Given the description of an element on the screen output the (x, y) to click on. 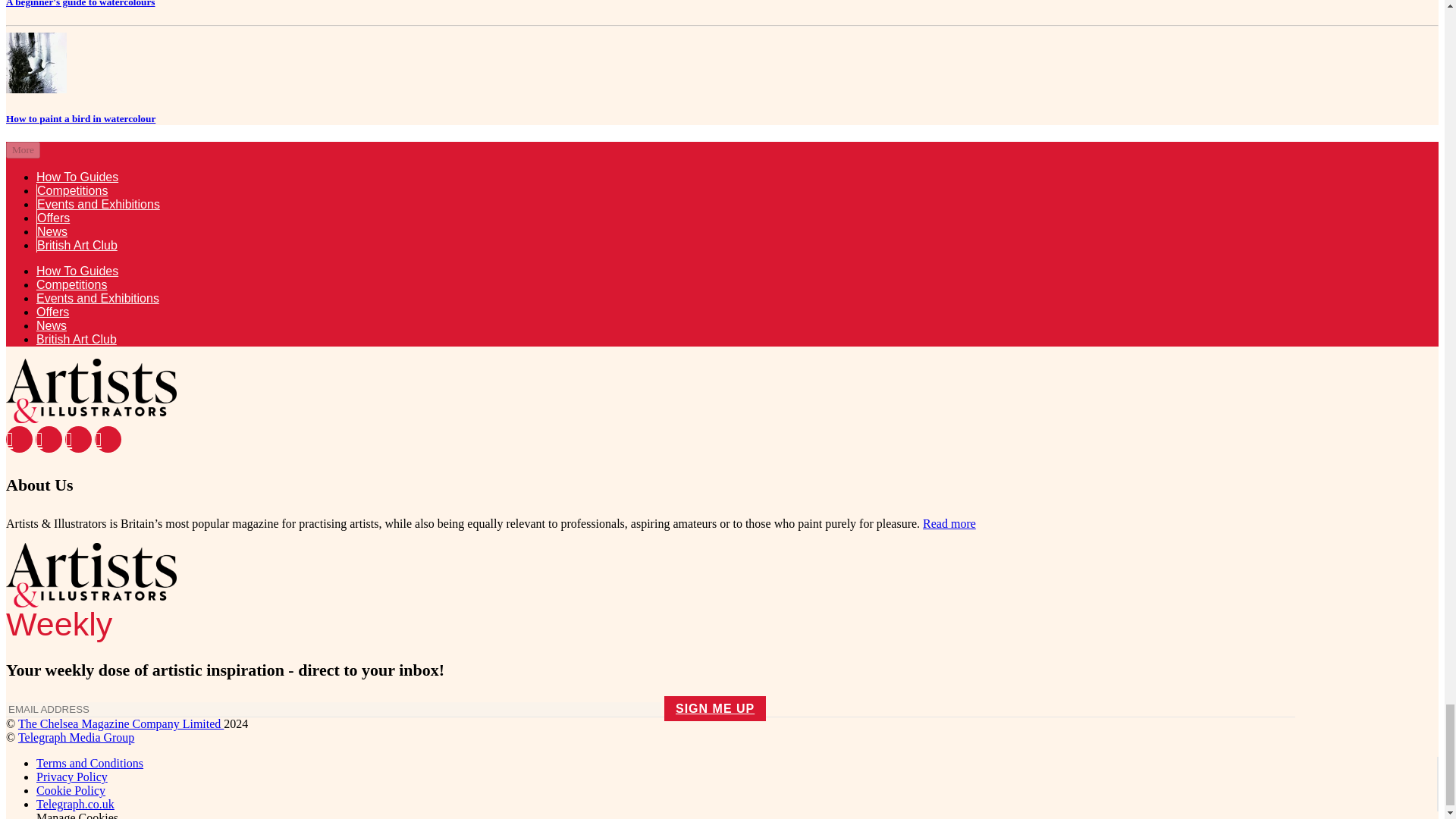
About Us (949, 522)
